Given the description of an element on the screen output the (x, y) to click on. 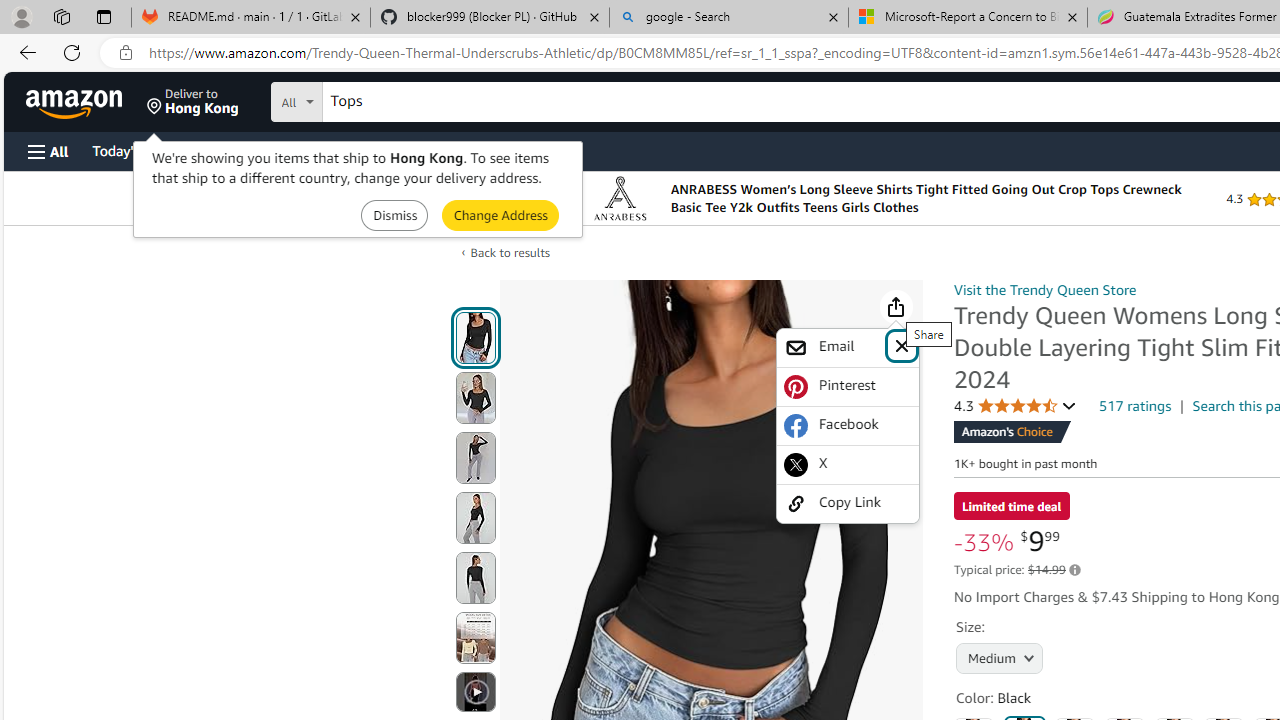
Learn more about Amazon pricing and savings (1074, 570)
Email (834, 347)
Open Menu (48, 151)
Pinterest (847, 385)
Back to results (509, 252)
Email (848, 347)
AutomationID: native_dropdown_selected_size_name (996, 656)
Search in (371, 99)
Amazon (76, 101)
Pinterest (848, 386)
Back to results (509, 251)
517 ratings (1135, 405)
